Given the description of an element on the screen output the (x, y) to click on. 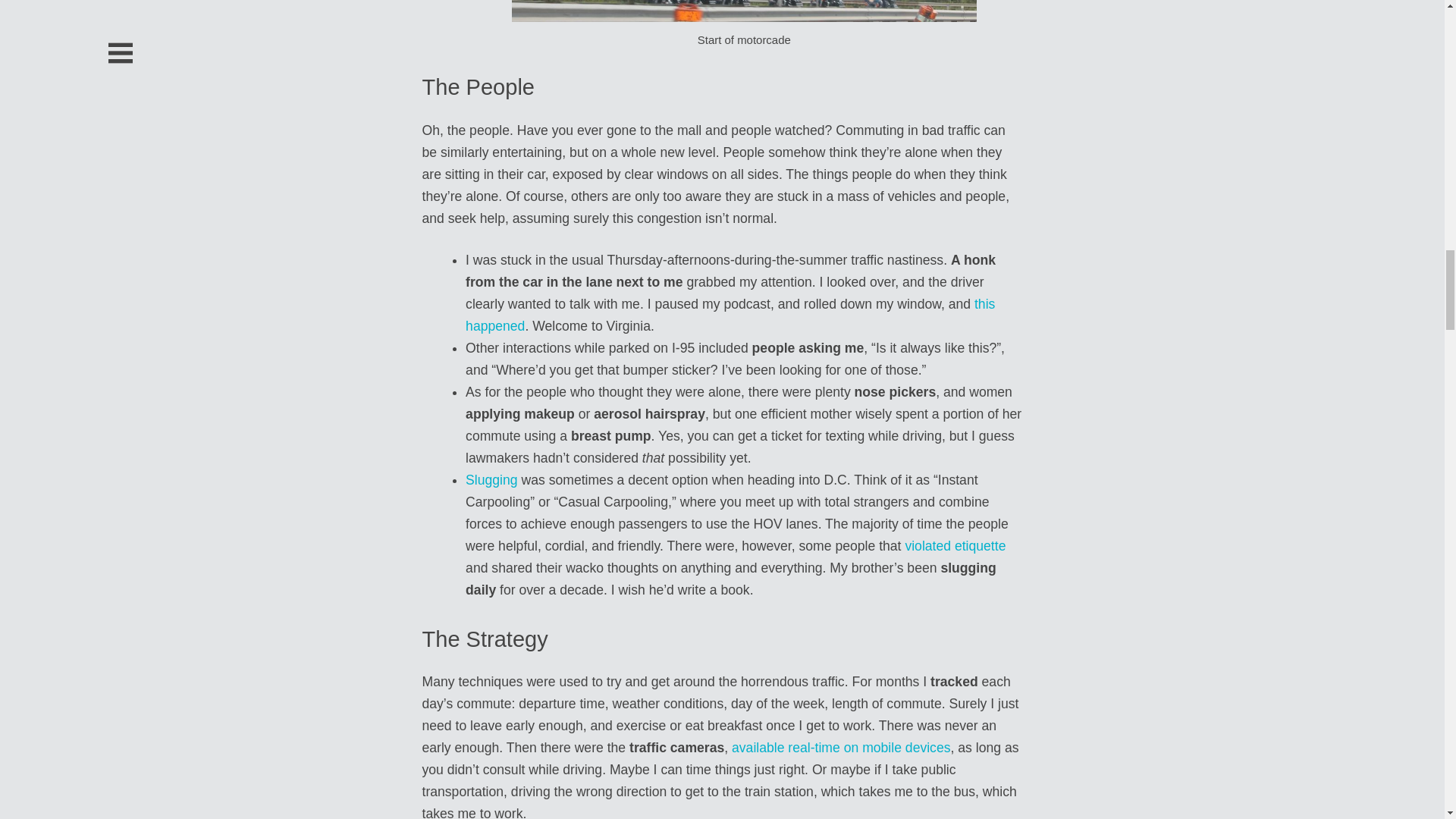
Motorcade (744, 11)
